Given the description of an element on the screen output the (x, y) to click on. 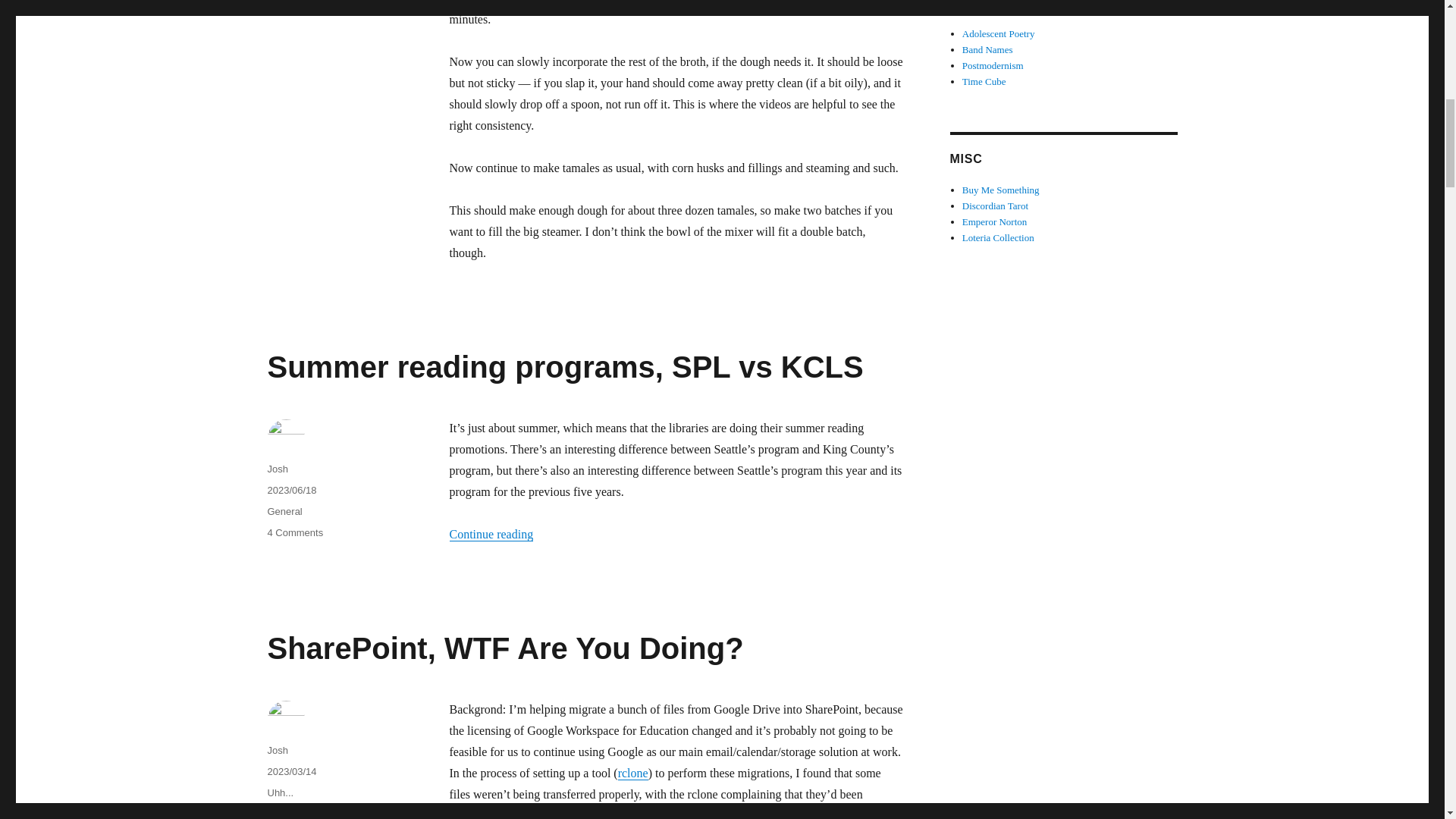
SharePoint, WTF Are You Doing? (504, 648)
support forum post (817, 814)
Josh (276, 749)
Summer reading programs, SPL vs KCLS (564, 367)
Technology (291, 813)
General (294, 532)
Josh (283, 511)
rclone (276, 469)
Uhh... (632, 772)
